Given the description of an element on the screen output the (x, y) to click on. 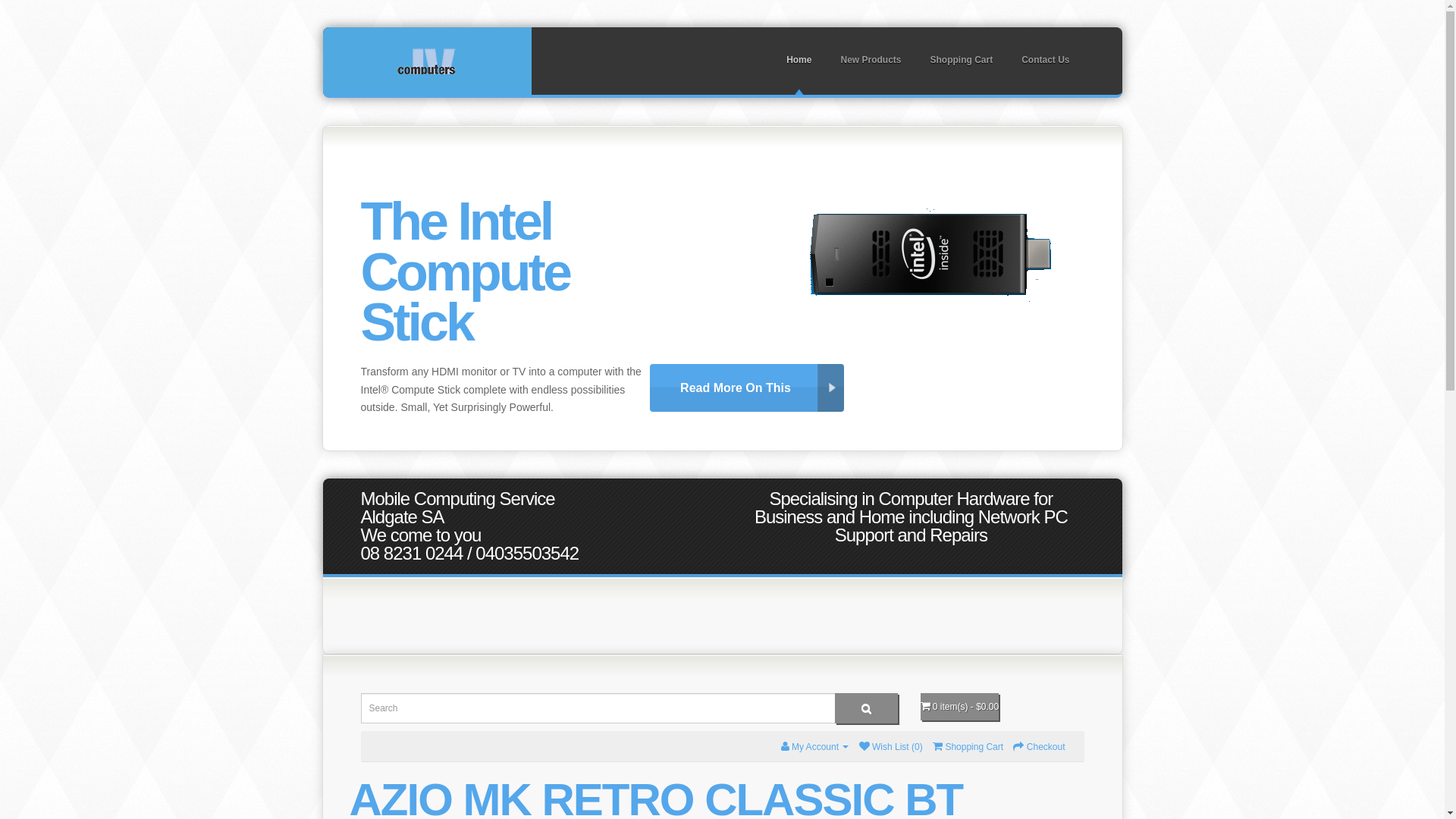
Shopping Cart Element type: text (967, 746)
Wish List (0) Element type: text (890, 746)
Shopping Cart Element type: text (961, 60)
Home Element type: text (798, 60)
Checkout Element type: text (1038, 746)
Logo Element type: text (426, 60)
My Account Element type: text (815, 746)
0 item(s) - $0.00 Element type: text (959, 707)
New Products Element type: text (870, 60)
Read More On This Element type: text (746, 388)
Contact Us Element type: text (1045, 60)
